Given the description of an element on the screen output the (x, y) to click on. 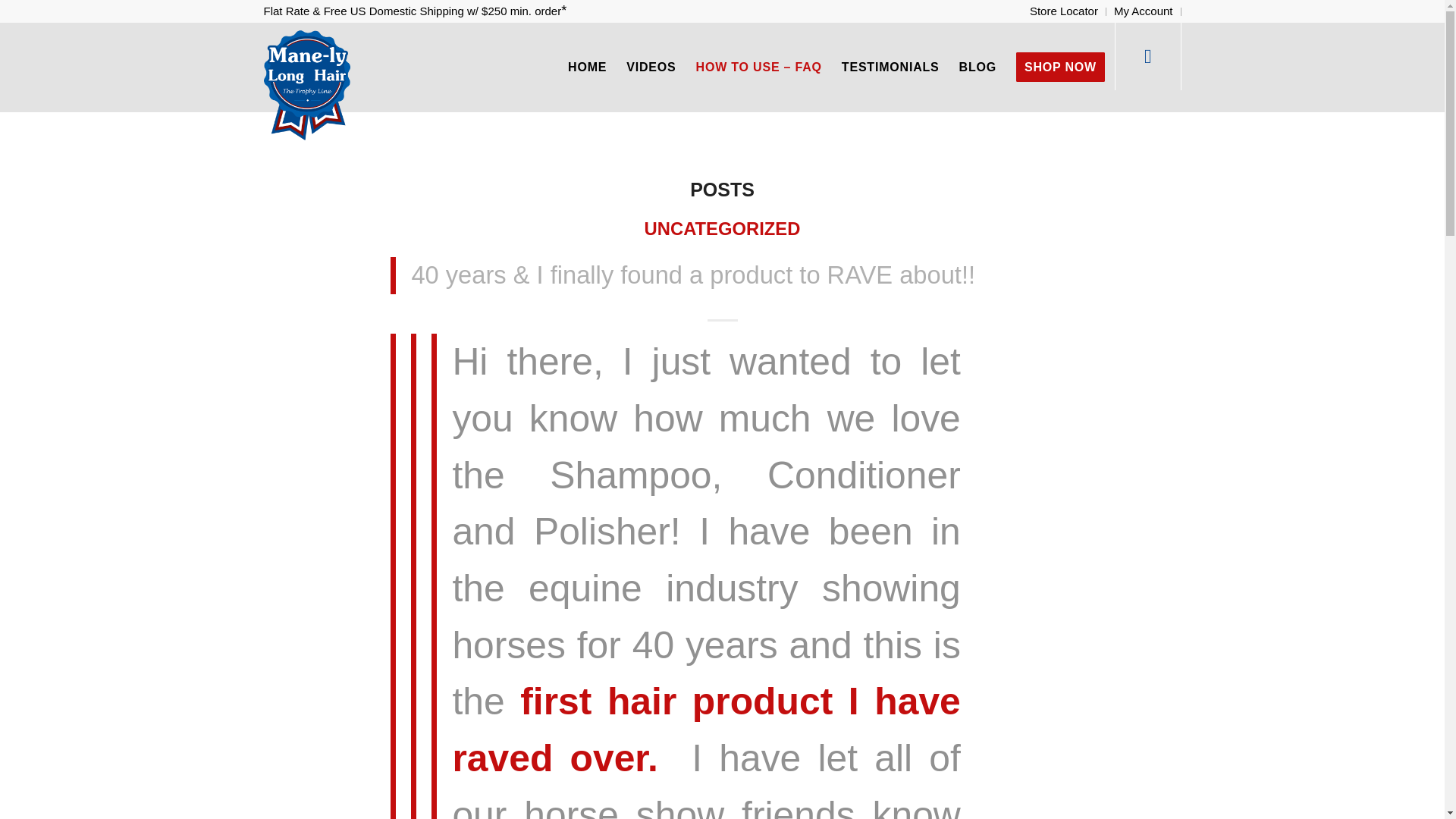
TESTIMONIALS (890, 67)
My Account (1143, 11)
SHOP NOW (1060, 67)
Store Locator (1063, 11)
UNCATEGORIZED (722, 228)
